Given the description of an element on the screen output the (x, y) to click on. 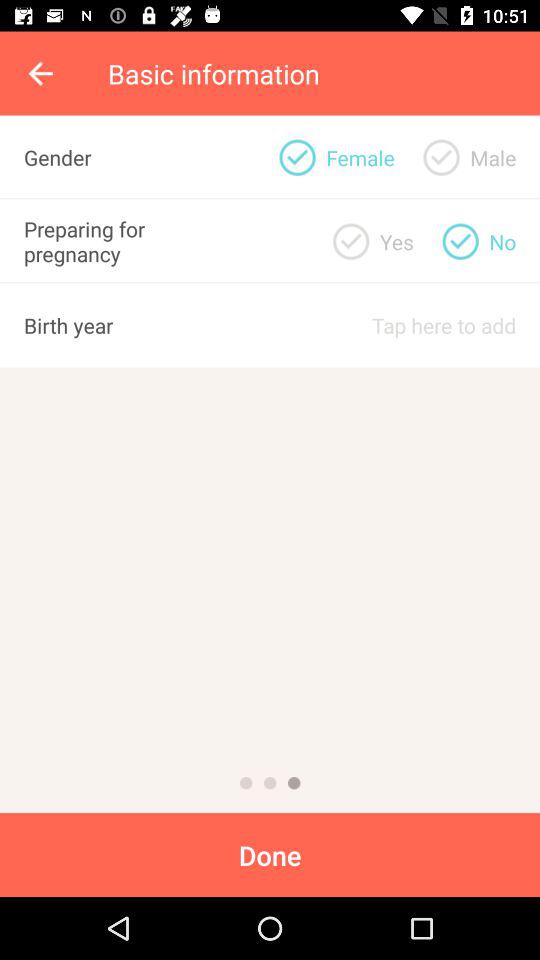
go back (270, 783)
